Given the description of an element on the screen output the (x, y) to click on. 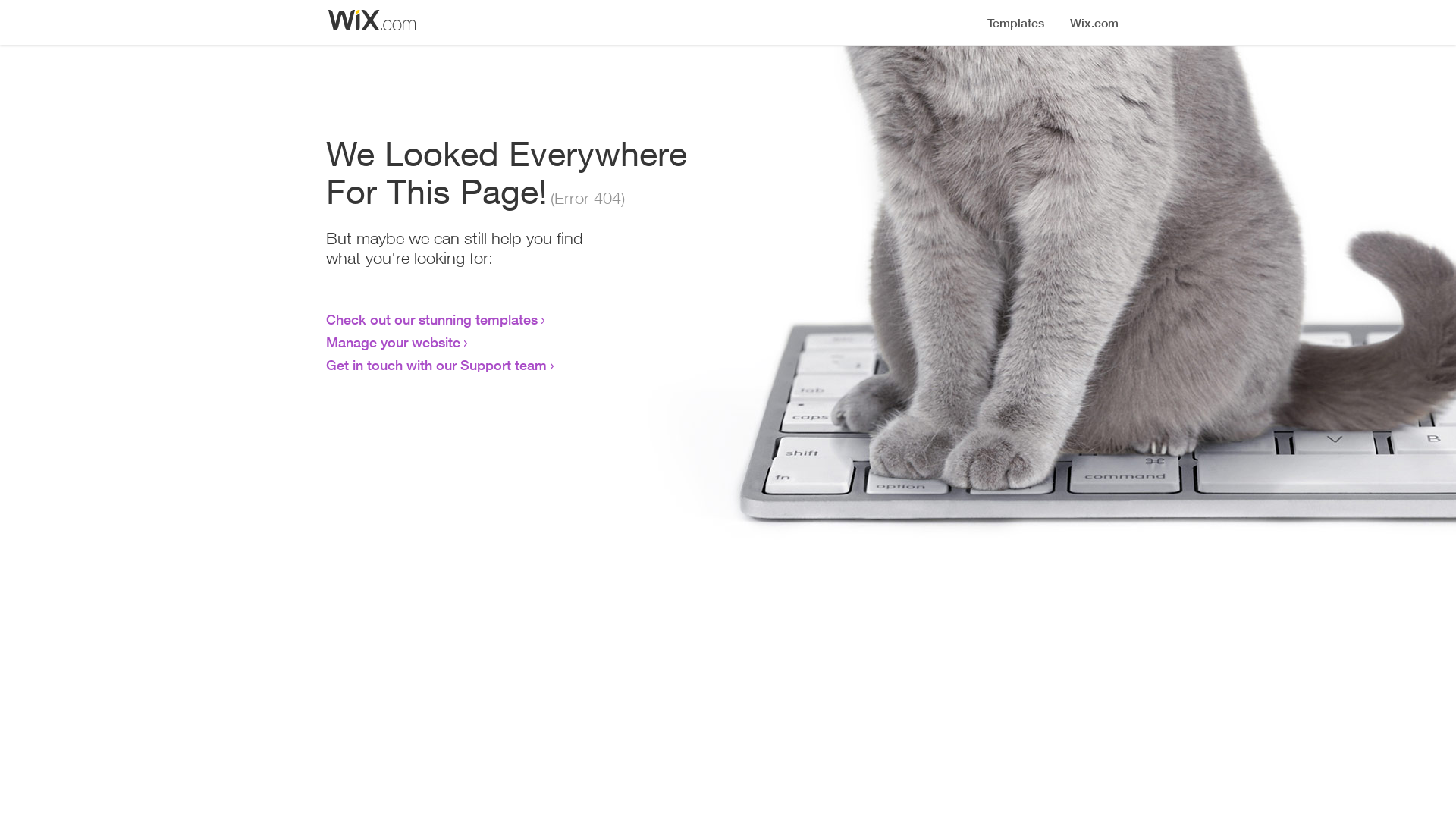
Manage your website Element type: text (393, 341)
Check out our stunning templates Element type: text (431, 318)
Get in touch with our Support team Element type: text (436, 364)
